Given the description of an element on the screen output the (x, y) to click on. 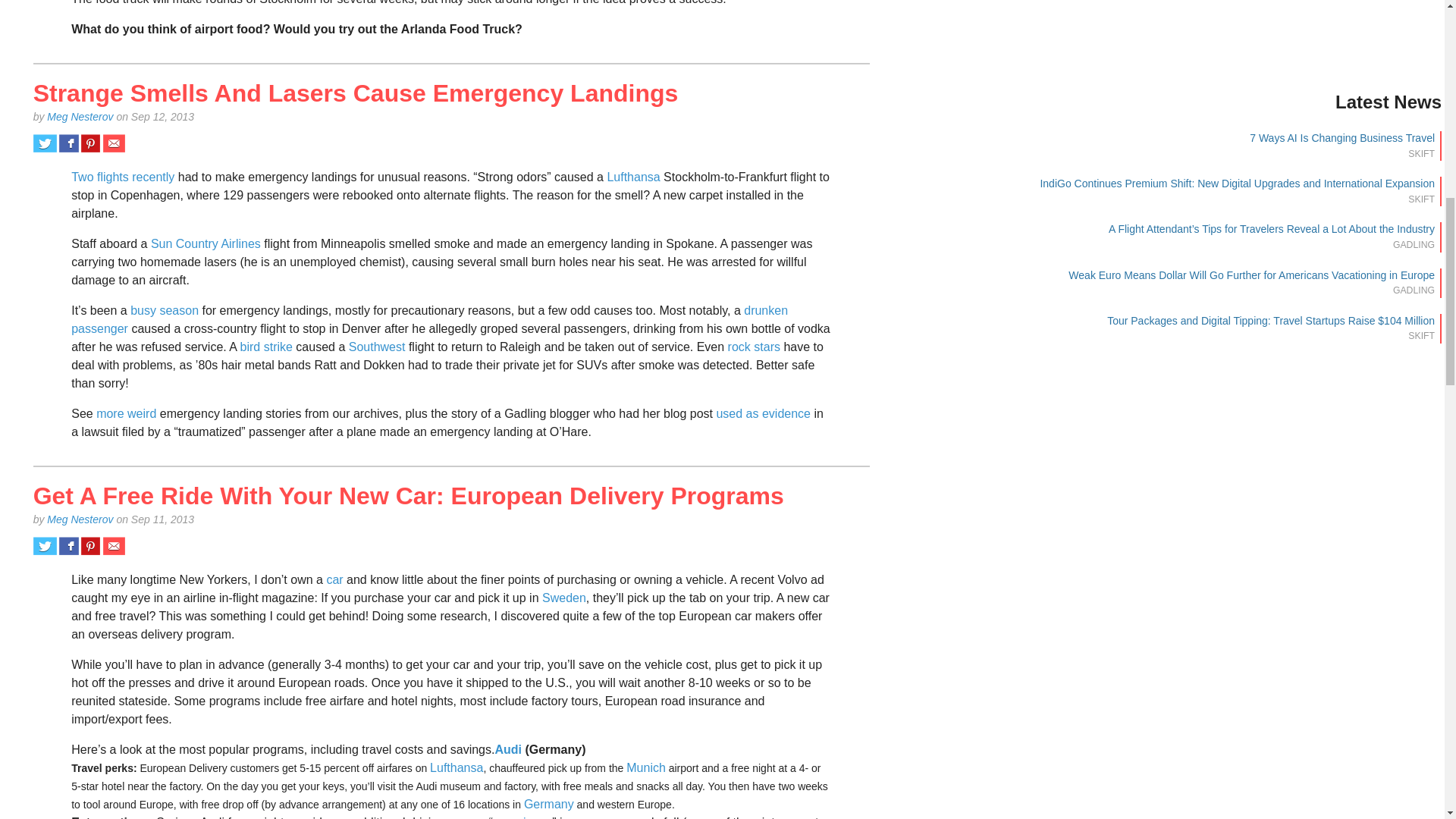
Share on Twitter (44, 143)
Share on Facebook (68, 143)
Strange Smells And Lasers Cause Emergency Landings (355, 93)
Share on Pinterest (90, 143)
Share via email (114, 143)
